Given the description of an element on the screen output the (x, y) to click on. 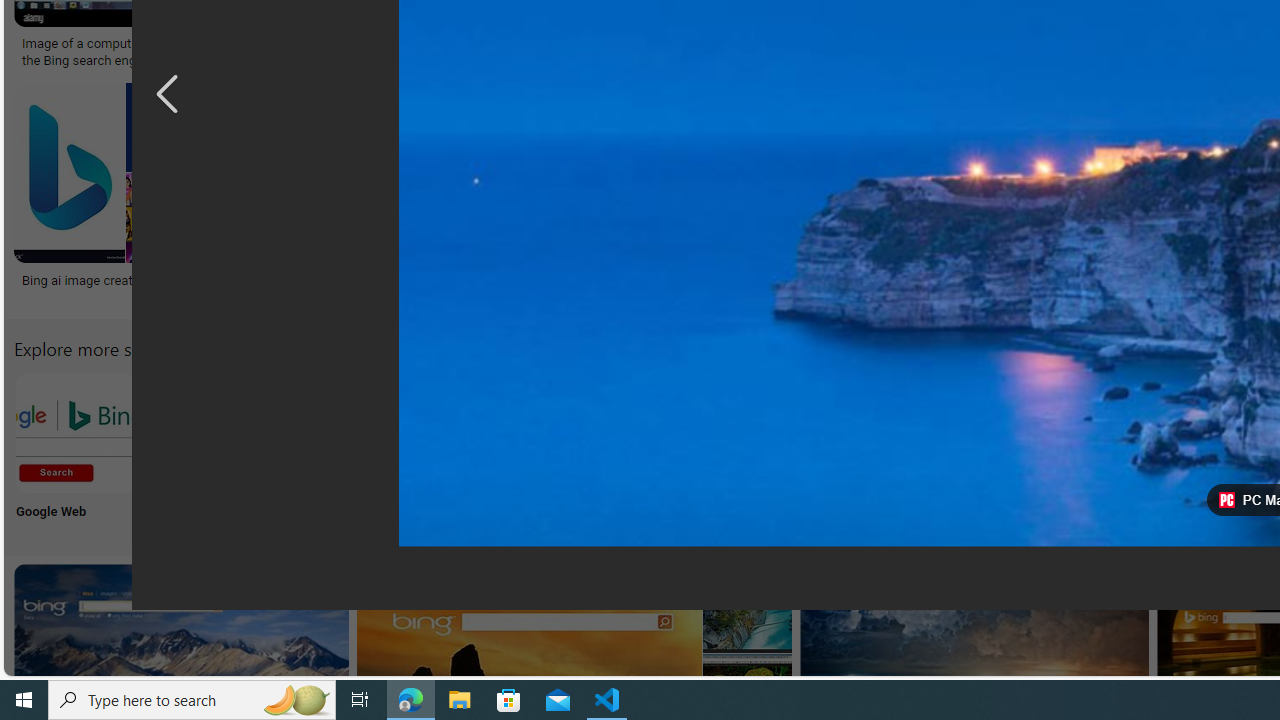
Internet Explorer Bing Search Internet Explorer (339, 450)
Bing Clip ART SEARCH (867, 432)
Google Web Search Bing Google Web (75, 450)
Bing Search Dark Mode Dark Mode (604, 450)
Download Bing Pictures | Wallpapers.com (1075, 44)
